Given the description of an element on the screen output the (x, y) to click on. 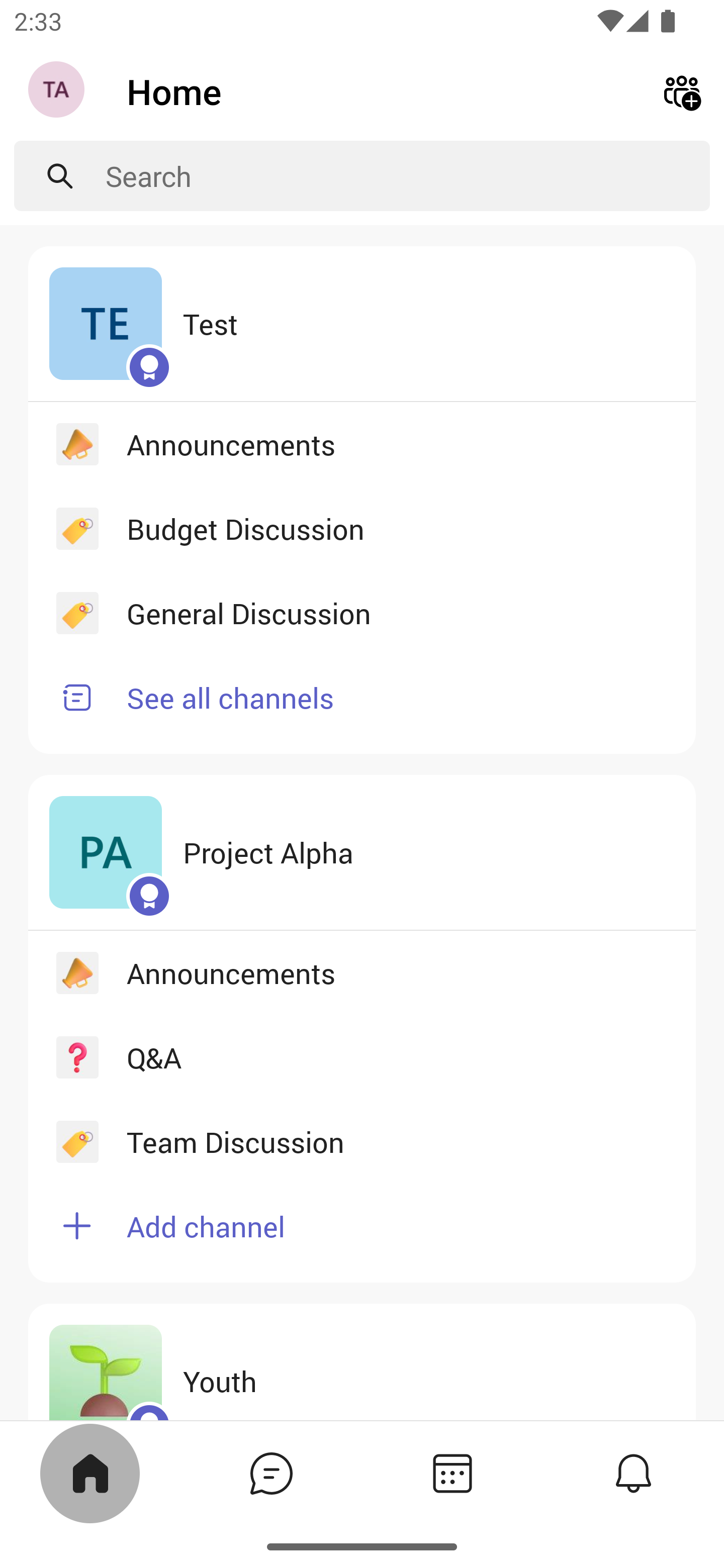
Create new community (681, 90)
Navigation (58, 91)
Search (407, 176)
Test Community. Test (361, 323)
Announcements Channel. Announcements (361, 443)
Budget Discussion Channel. Budget Discussion (361, 528)
General Discussion Channel. General Discussion (361, 612)
Project Alpha Community. Project Alpha (361, 852)
Announcements Channel. Announcements (361, 972)
Q&A Channel. Q&A (361, 1056)
Team Discussion Channel. Team Discussion (361, 1141)
Youth Community. Youth (361, 1361)
Home tab, 1 of 4 (90, 1472)
Chat tab,2 of 4, not selected (271, 1472)
Calendar tab,3 of 4, not selected (452, 1472)
Activity tab,4 of 4, not selected (633, 1472)
